Given the description of an element on the screen output the (x, y) to click on. 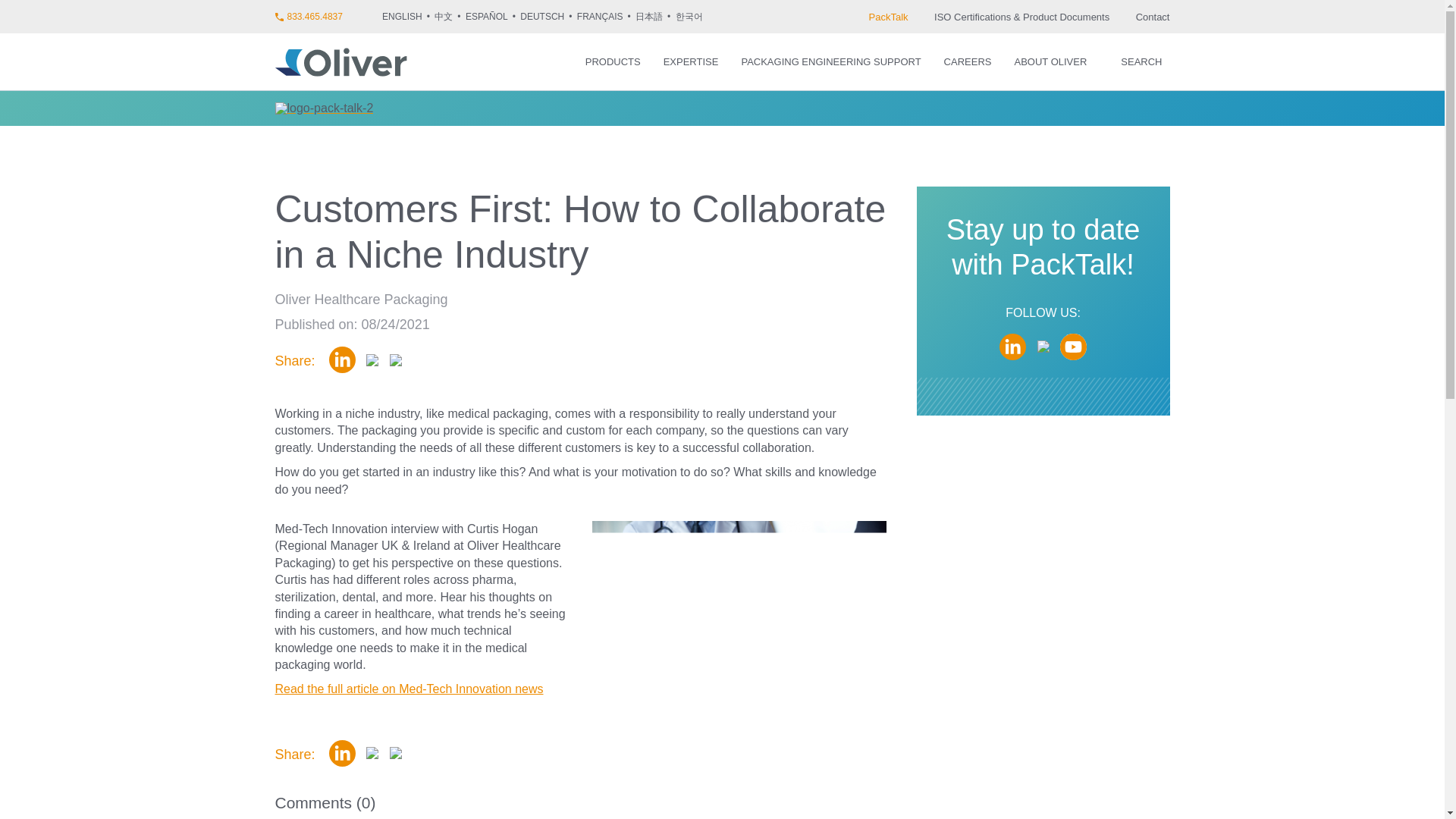
ENGLISH (406, 16)
PRODUCTS (612, 61)
EXPERTISE (691, 61)
833.465.4837 (328, 16)
DEUTSCH (546, 16)
